Given the description of an element on the screen output the (x, y) to click on. 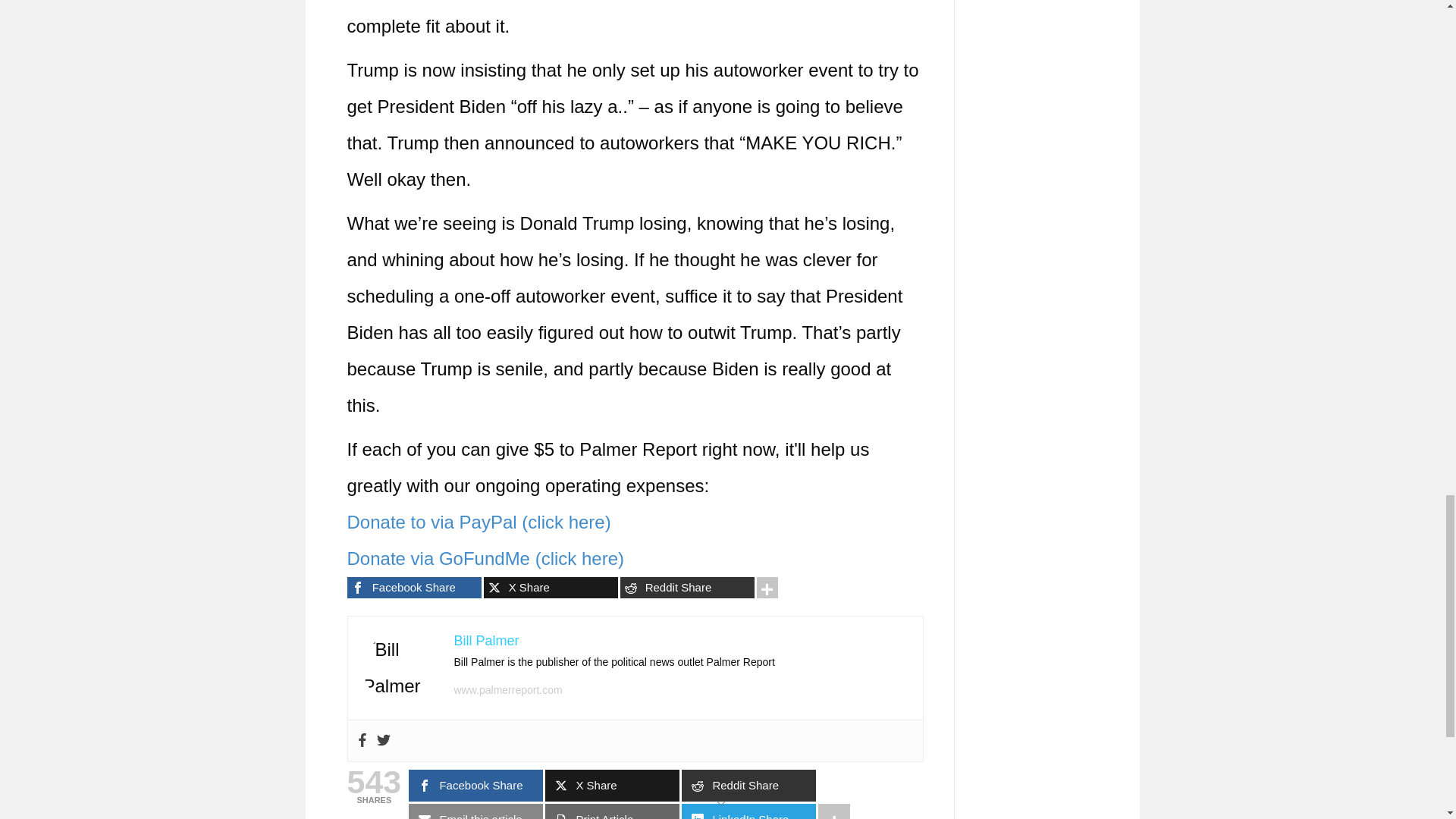
X Share (550, 587)
Reddit Share (687, 587)
Facebook Share (414, 587)
